Given the description of an element on the screen output the (x, y) to click on. 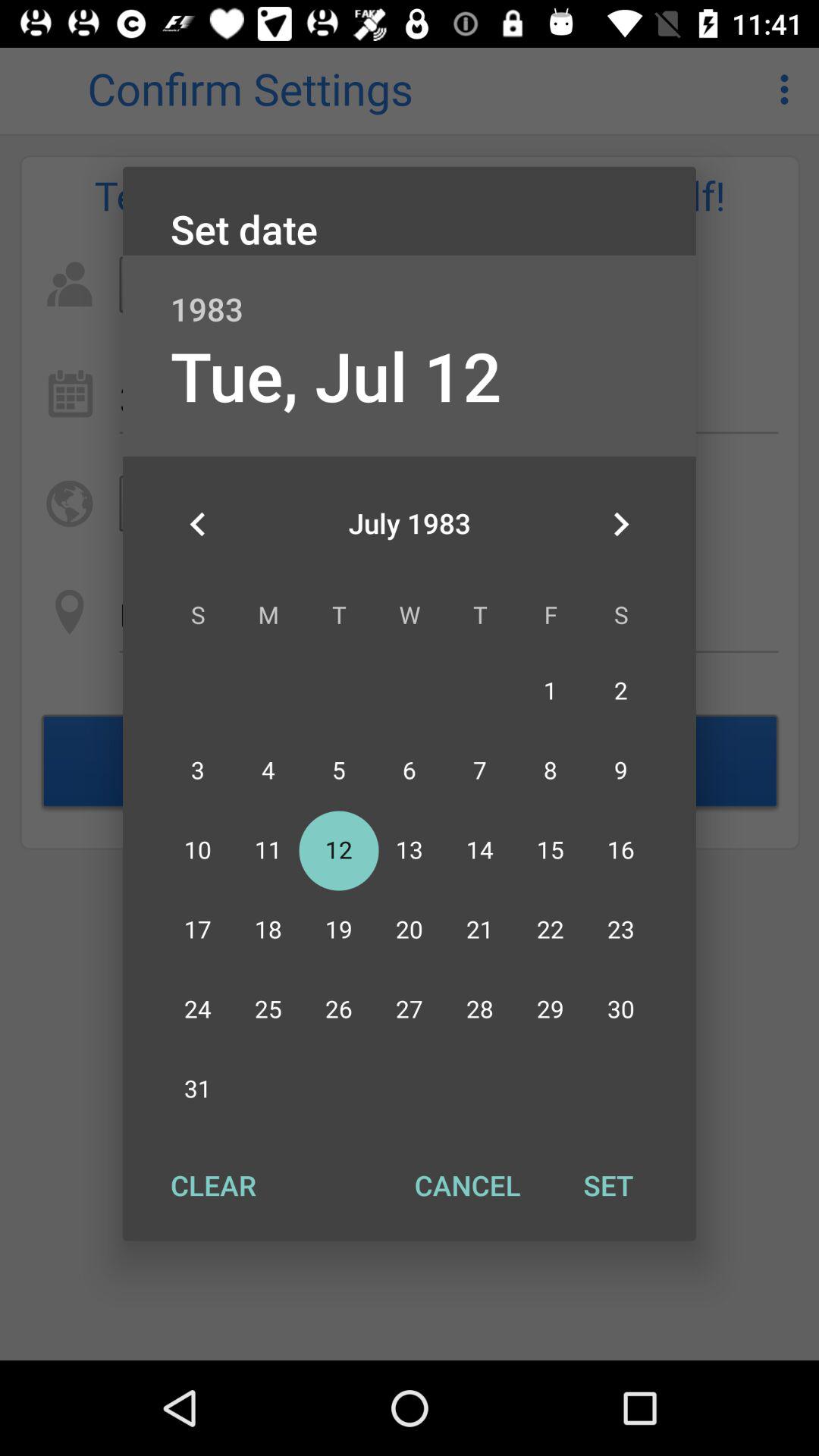
choose the tue, jul 12 (335, 375)
